Given the description of an element on the screen output the (x, y) to click on. 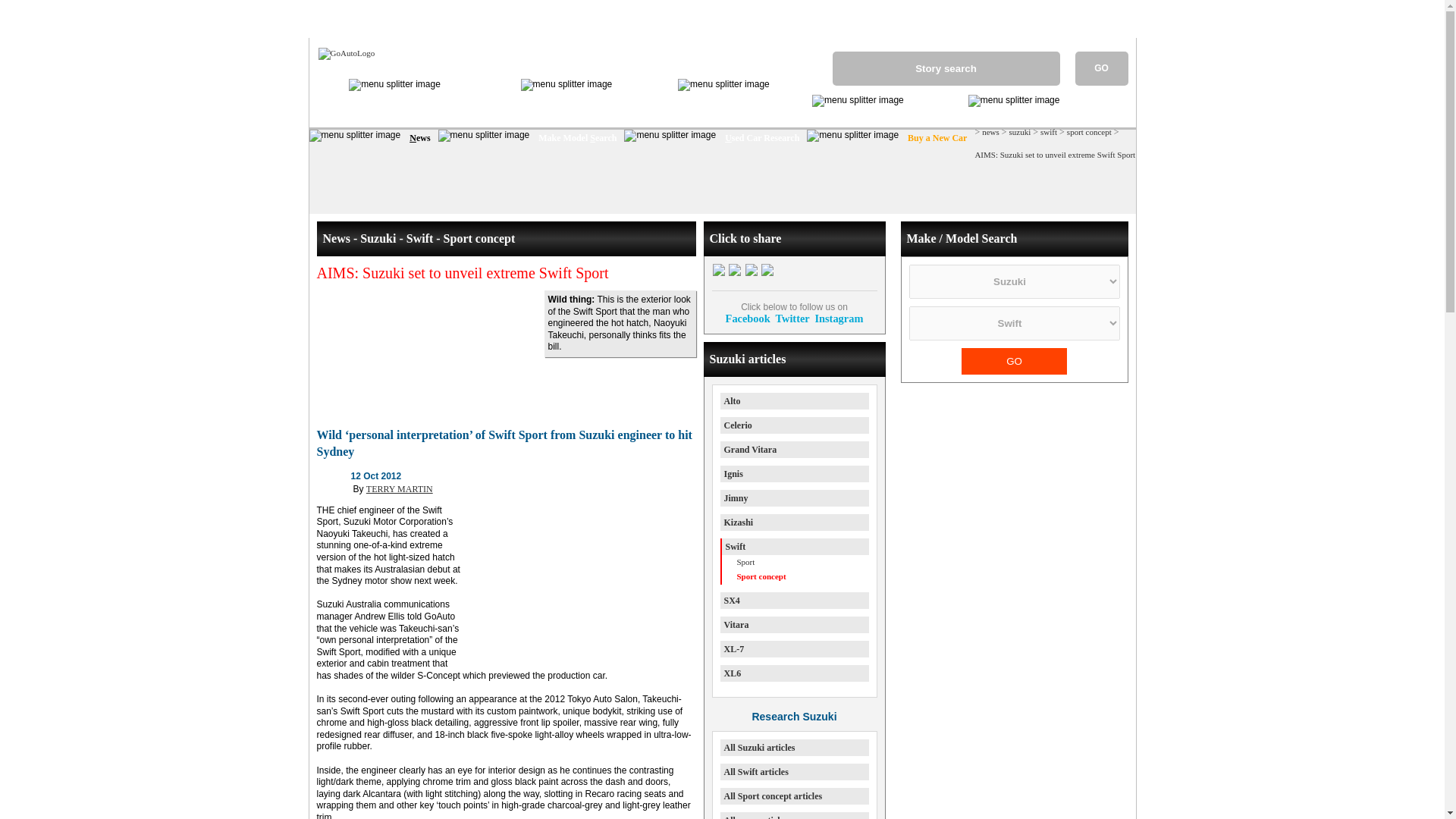
Suzuki Swift Sport concept (506, 350)
Car Reviews (644, 86)
Used Car Research (761, 137)
Buy a New Car (936, 137)
Make Model Search (576, 137)
New Models (936, 102)
GoAuto.com.au (341, 52)
news (989, 131)
